Given the description of an element on the screen output the (x, y) to click on. 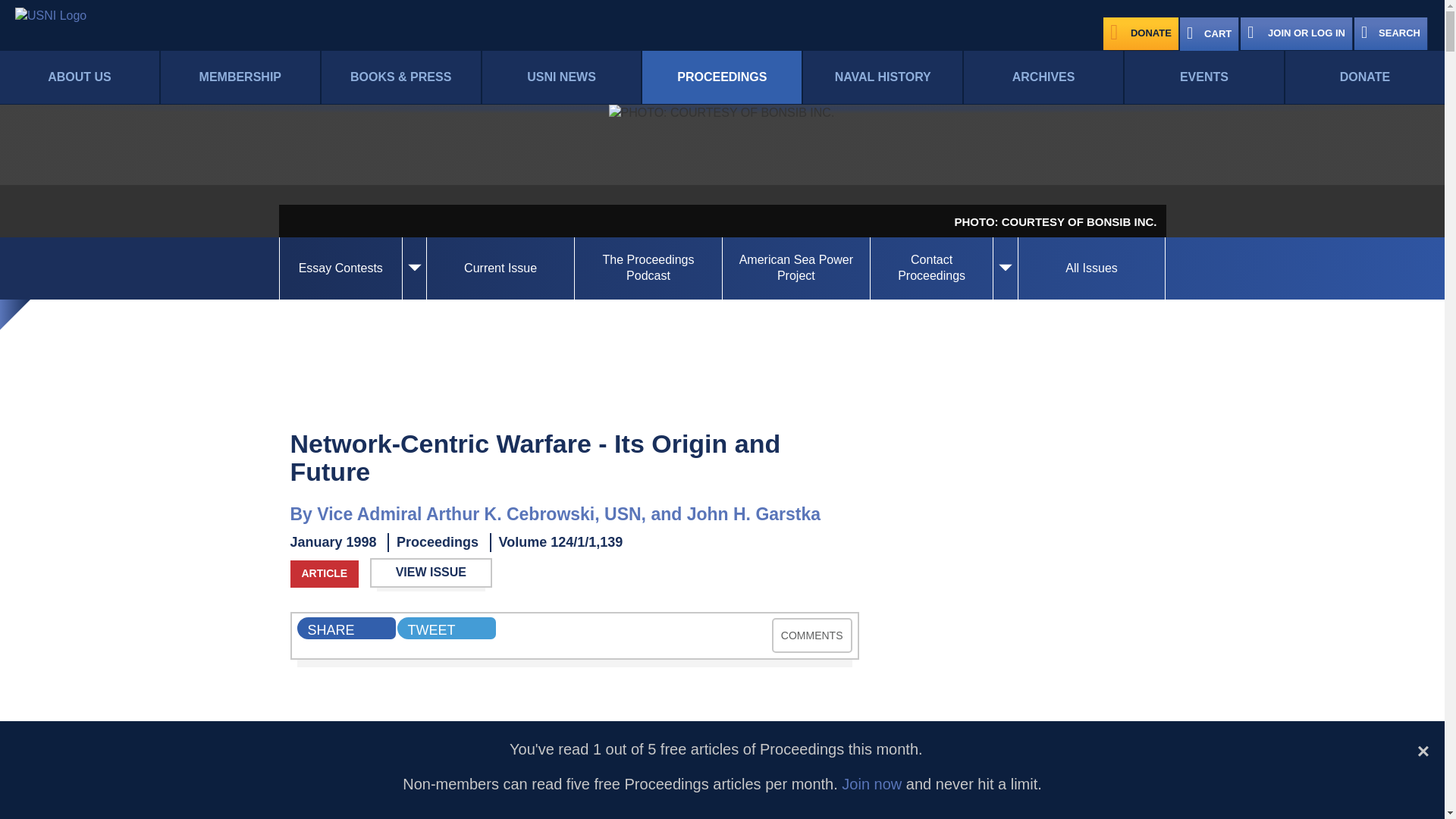
USNI NEWS (561, 77)
JOIN OR LOG IN (1296, 33)
Current Issue of Proceedings (499, 268)
ARCHIVES (1042, 77)
DONATE (1364, 77)
DONATE (1141, 33)
MEMBERSHIP (240, 77)
PROCEEDINGS (722, 77)
American Sea Power Project (795, 268)
ABOUT US (79, 77)
NAVAL HISTORY (882, 77)
CART (1209, 33)
SEARCH (1391, 33)
EVENTS (1204, 77)
